Given the description of an element on the screen output the (x, y) to click on. 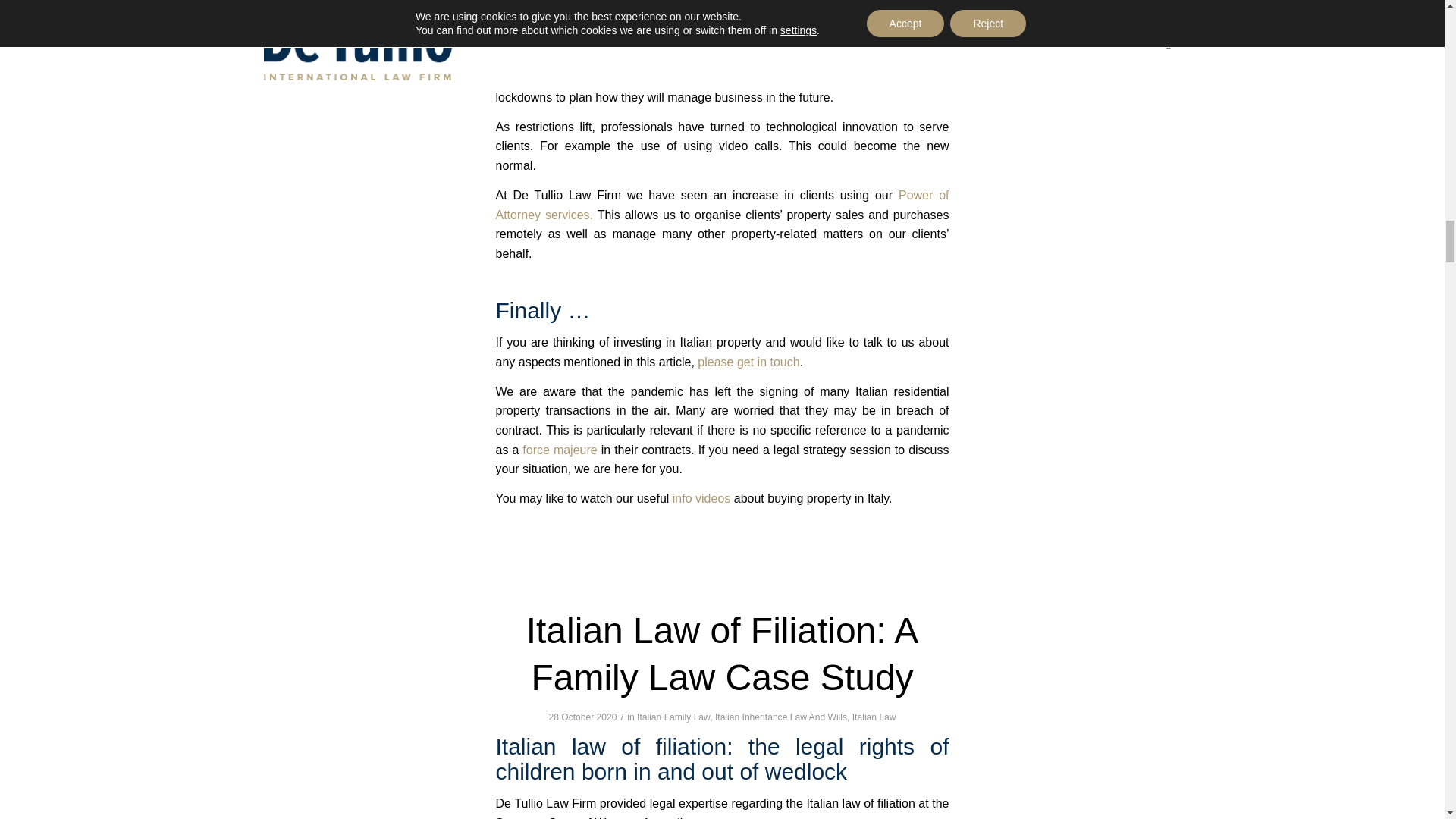
info videos (701, 498)
Italian Family Law (673, 716)
Italian Law of Filiation: A Family Law Case Study (721, 653)
force majeure (559, 449)
please get in touch (748, 361)
Power of Attorney services. (722, 205)
Italian Law (873, 716)
Italian Inheritance Law And Wills (780, 716)
